Given the description of an element on the screen output the (x, y) to click on. 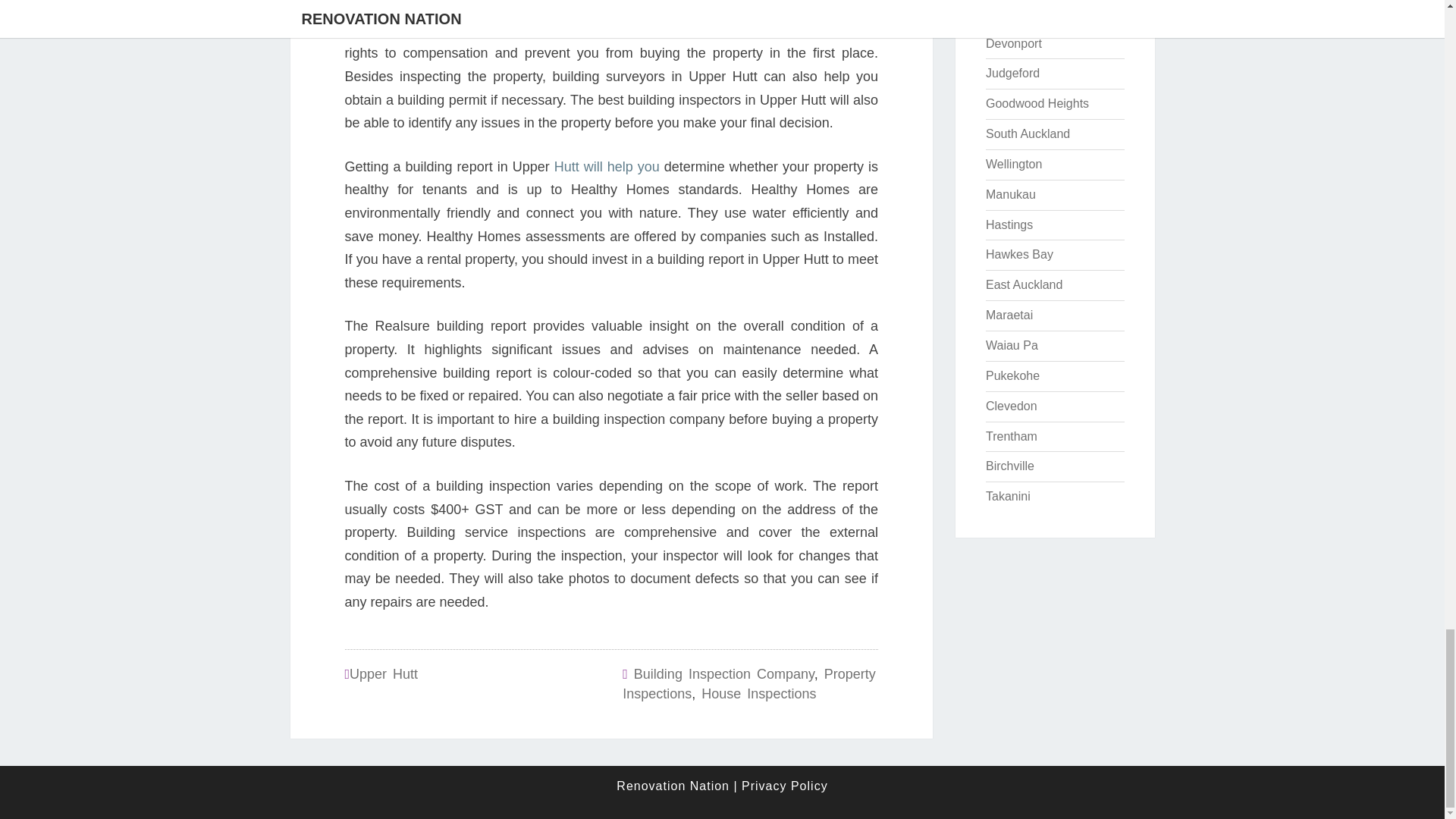
Building Inspection Company (723, 673)
House Inspections (758, 693)
Upper Hutt (383, 673)
Property Inspections (749, 683)
Hutt will help you (606, 166)
